Given the description of an element on the screen output the (x, y) to click on. 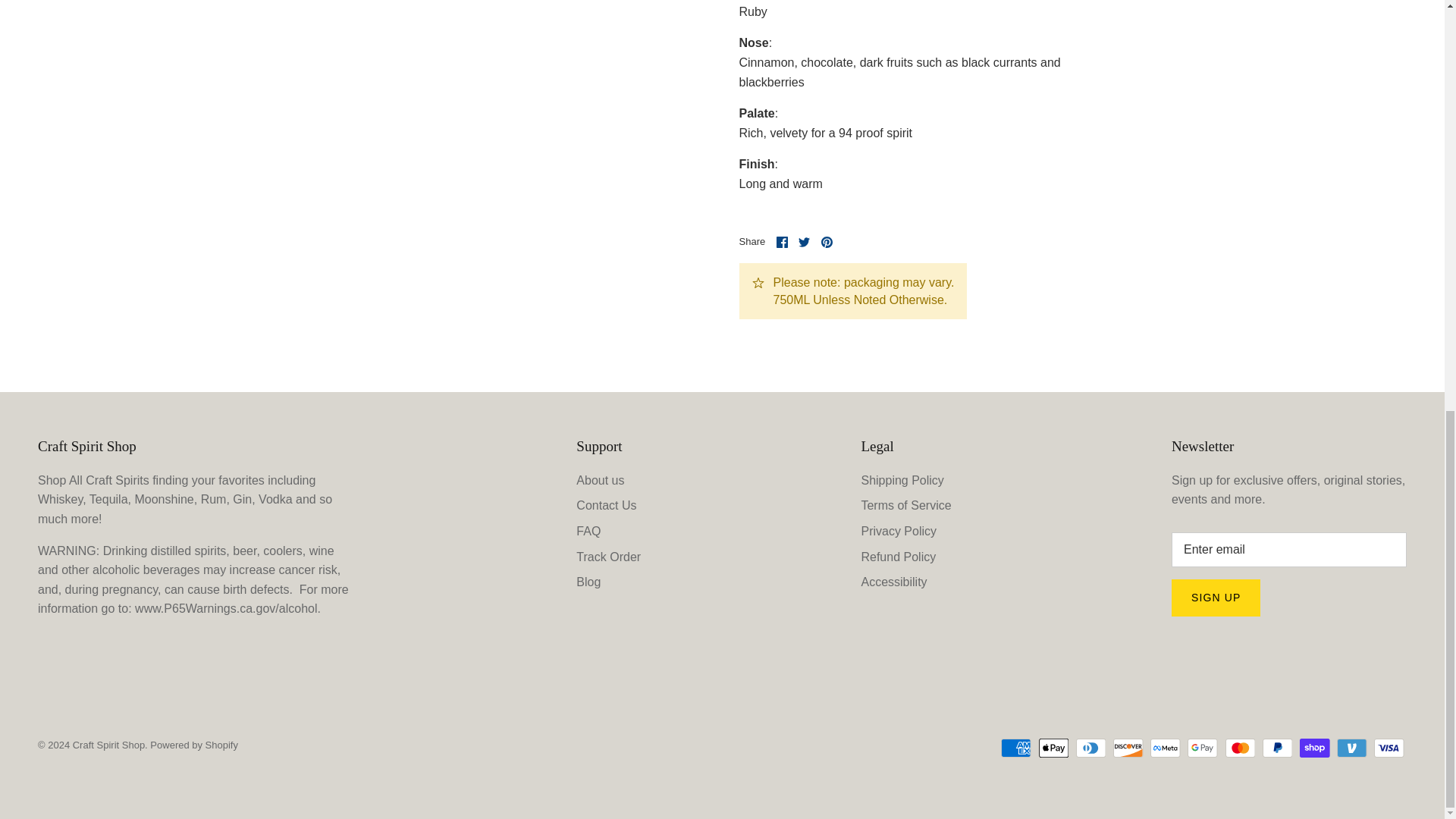
Shop Pay (1314, 747)
Apple Pay (1053, 747)
WARNING: Drinking (227, 608)
Diners Club (1090, 747)
American Express (1015, 747)
Meta Pay (1165, 747)
Discover (1127, 747)
Twitter (803, 242)
Google Pay (1202, 747)
Pinterest (826, 242)
Mastercard (1240, 747)
PayPal (1277, 747)
Facebook (781, 242)
Venmo (1351, 747)
